Given the description of an element on the screen output the (x, y) to click on. 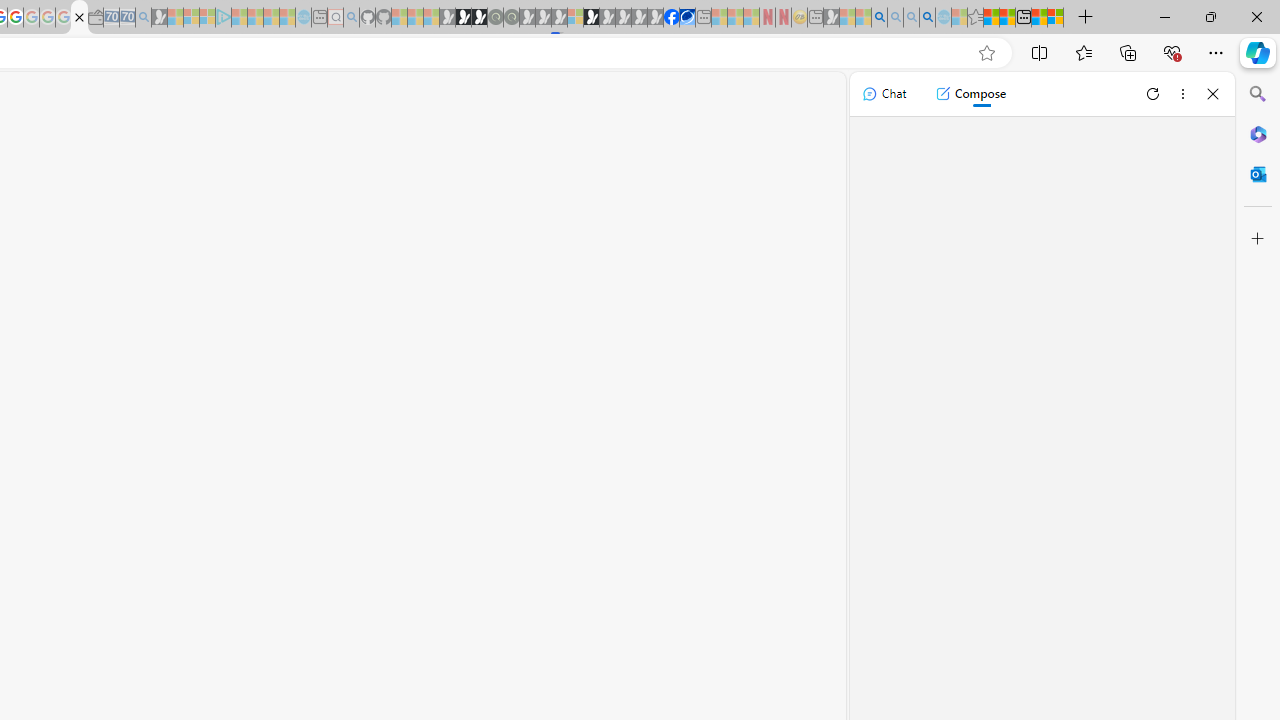
Microsoft account | Privacy - Sleeping (207, 17)
Nordace | Facebook (671, 17)
AQI & Health | AirNow.gov (687, 17)
Sign in to your account - Sleeping (575, 17)
Future Focus Report 2024 - Sleeping (511, 17)
